Given the description of an element on the screen output the (x, y) to click on. 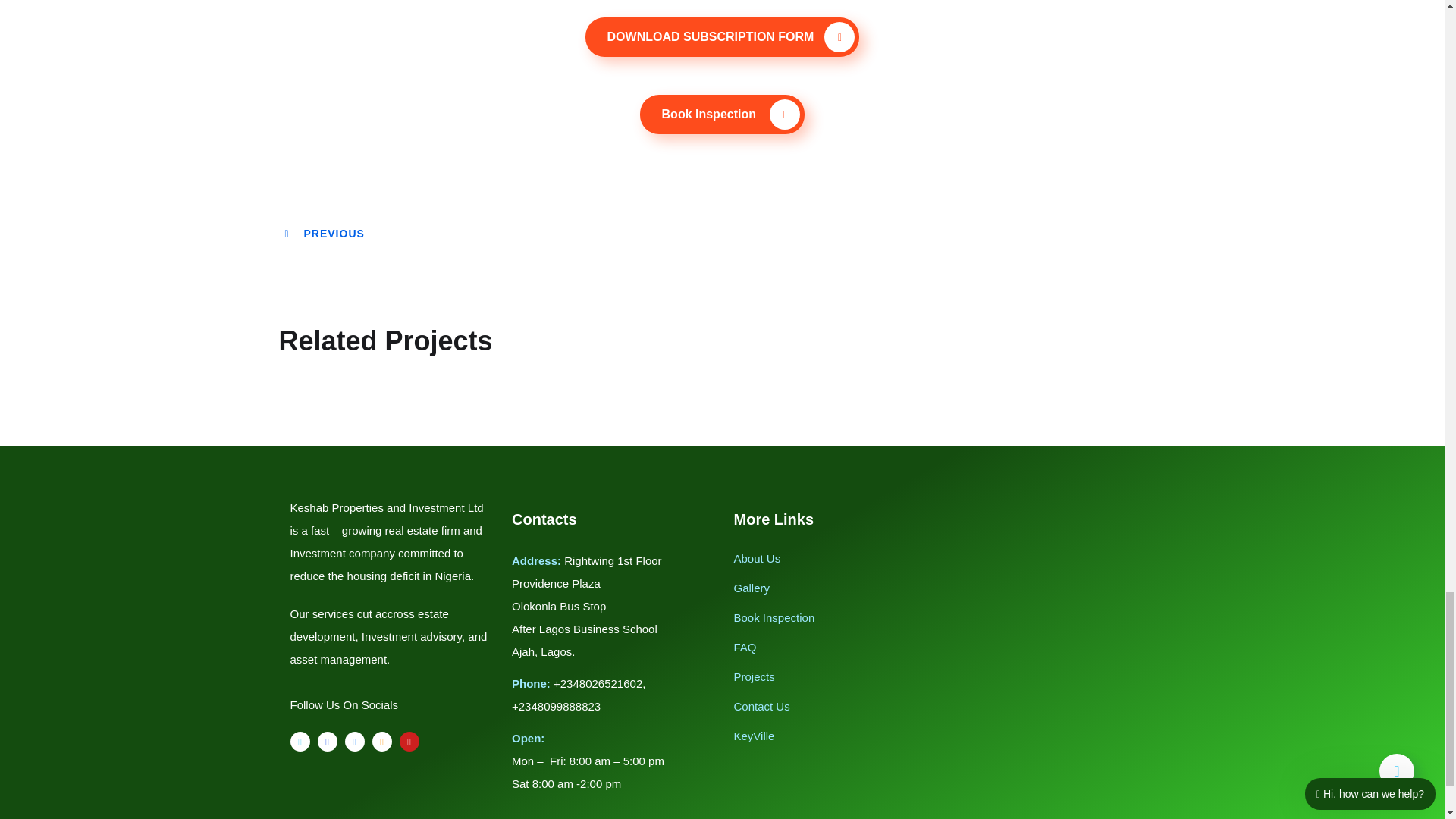
Book Inspection (722, 114)
PREVIOUS (323, 233)
DOWNLOAD SUBSCRIPTION FORM (722, 36)
